Given the description of an element on the screen output the (x, y) to click on. 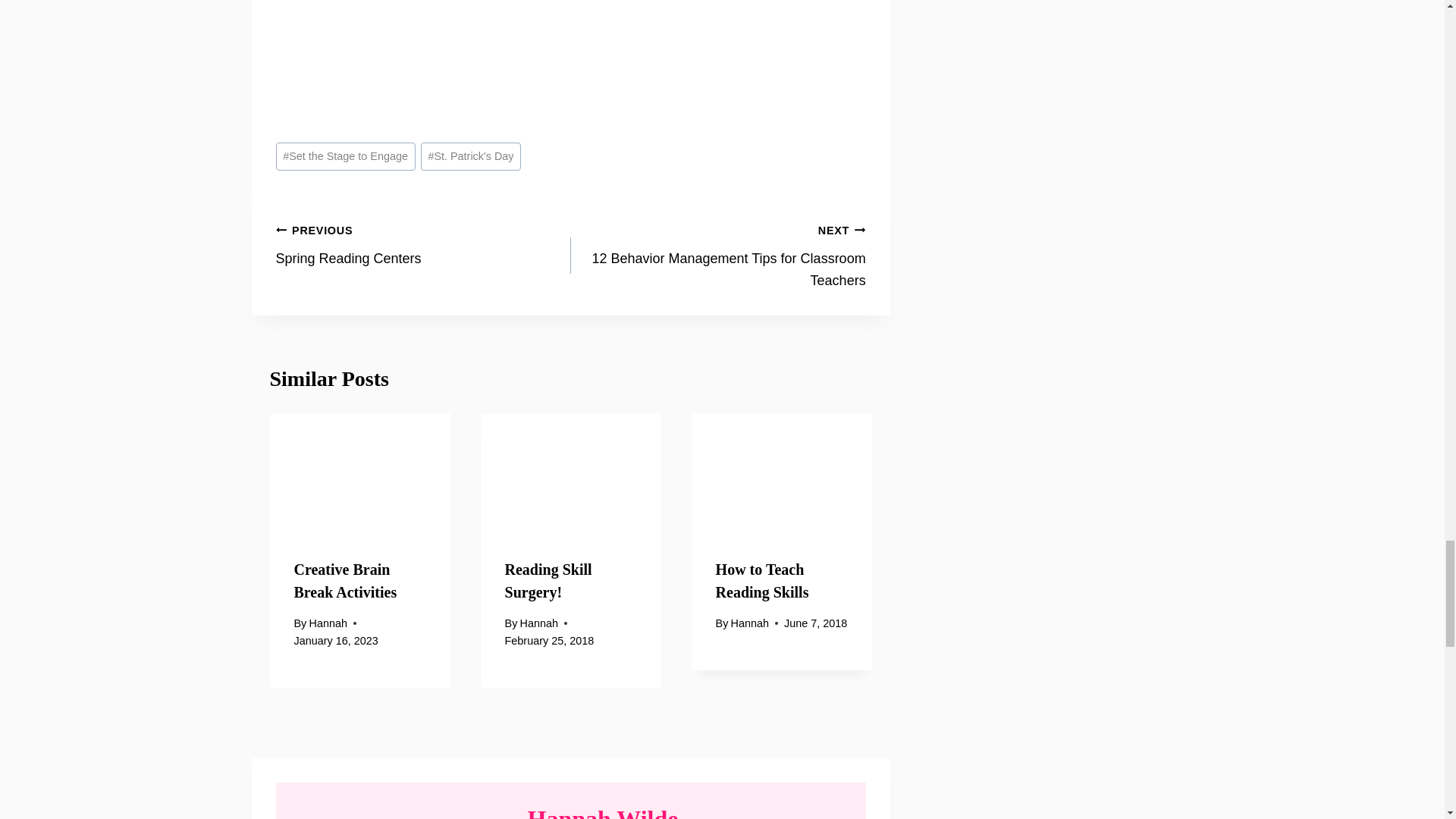
St. Patrick's Day (718, 255)
Hannah (423, 244)
Creative Brain Break Activities (470, 156)
Reading Skill Surgery! (538, 623)
Hannah (345, 580)
Set the Stage to Engage (548, 580)
